Given the description of an element on the screen output the (x, y) to click on. 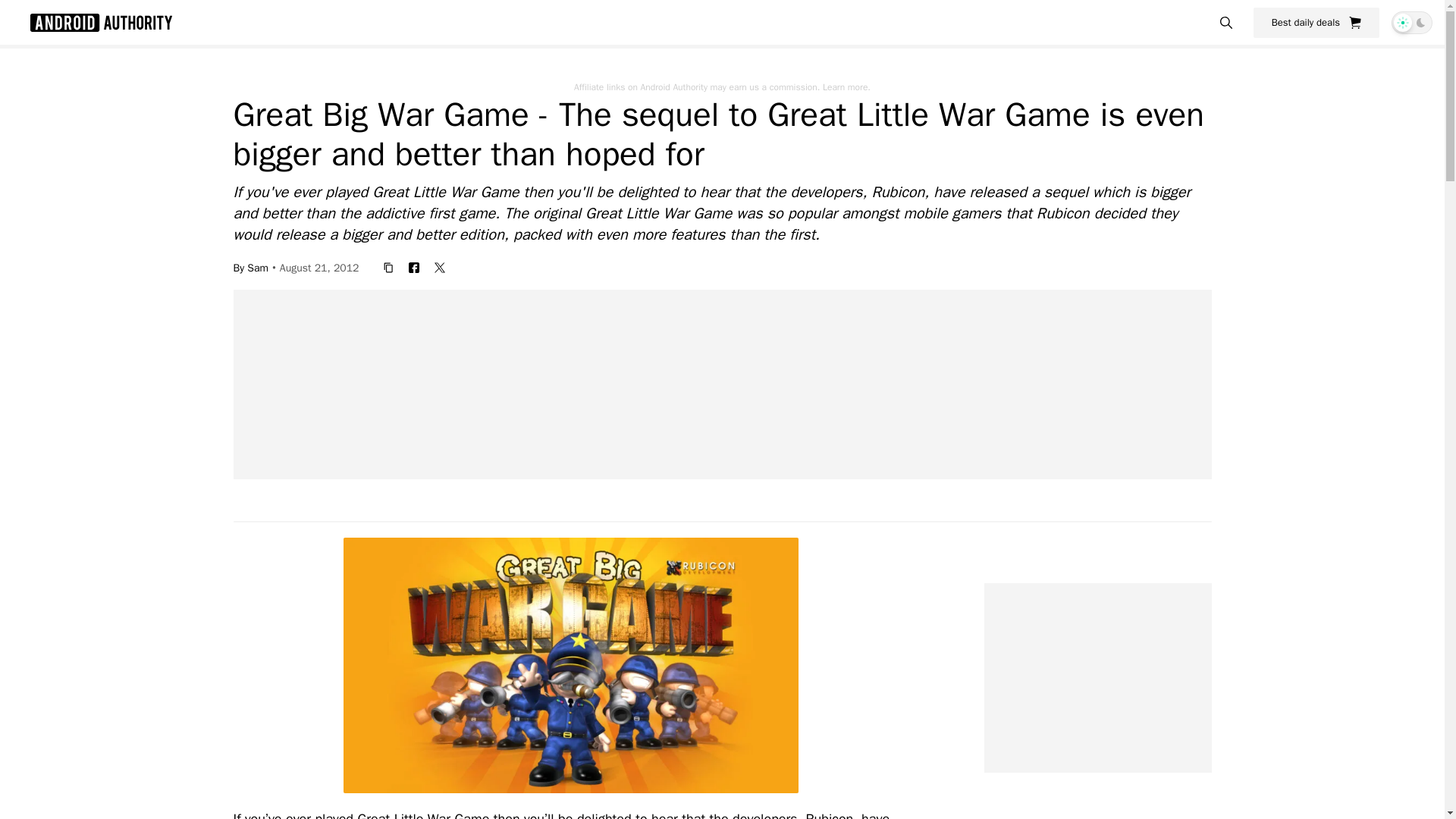
facebook (413, 267)
Best daily deals (1315, 22)
twitter (439, 267)
Learn more. (846, 86)
Sam (257, 267)
